Given the description of an element on the screen output the (x, y) to click on. 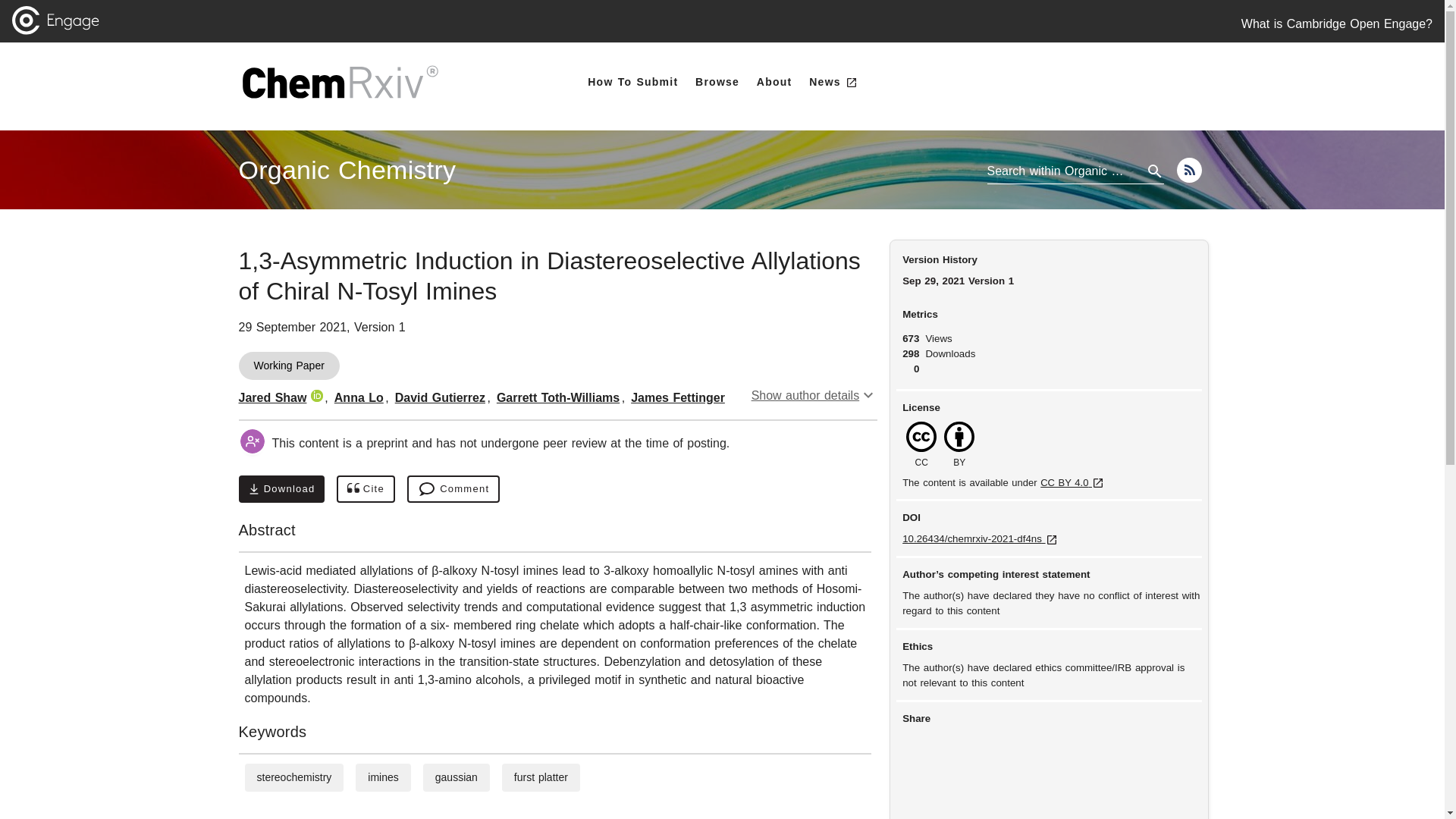
Browse (716, 81)
gaussian (456, 776)
imines (382, 776)
Show author details (814, 395)
How To Submit (632, 81)
Garrett Toth-Williams (558, 397)
Download (280, 488)
Cite (346, 169)
About (365, 488)
